Given the description of an element on the screen output the (x, y) to click on. 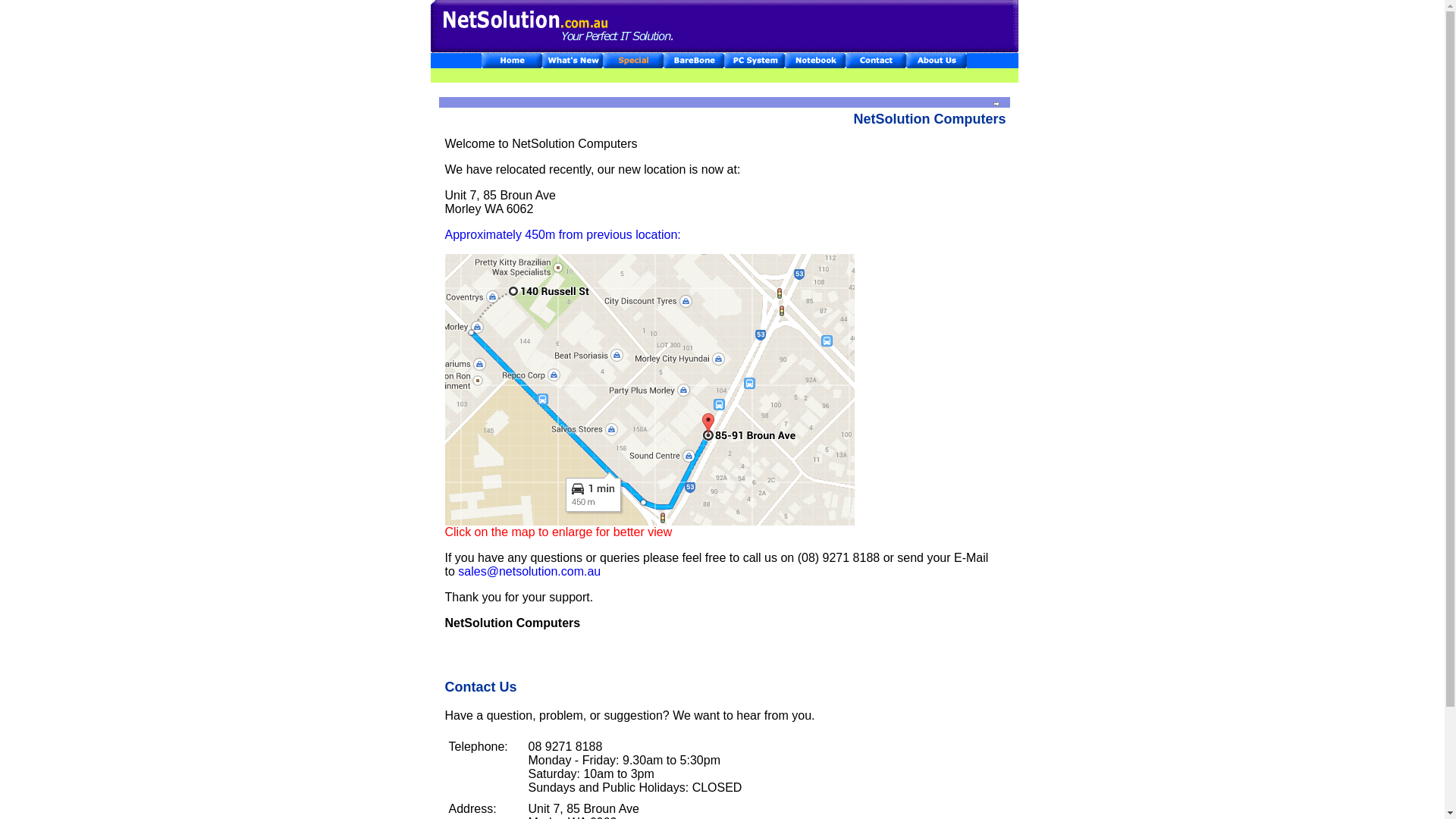
 more  Element type: hover (996, 103)
sales@netsolution.com.au Element type: text (529, 570)
 NetSolution Computers  Element type: hover (724, 26)
Approximately 450m from previous location: Element type: text (562, 234)
